Given the description of an element on the screen output the (x, y) to click on. 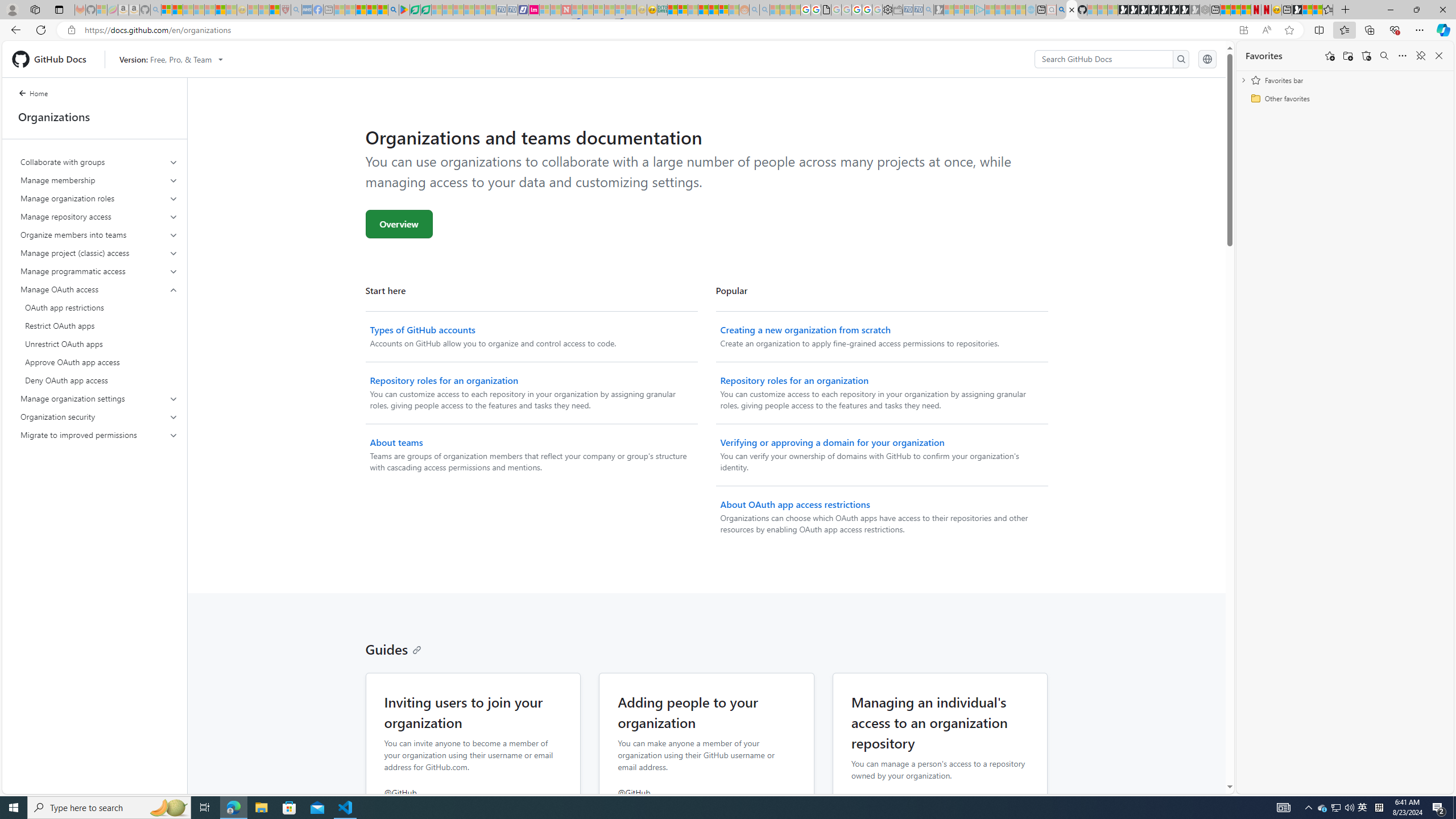
Close favorites (1439, 55)
Guides (393, 648)
Microsoft Word - consumer-privacy address update 2.2021 (426, 9)
14 Common Myths Debunked By Scientific Facts - Sleeping (588, 9)
Manage repository access (99, 216)
Pets - MSN (371, 9)
